Given the description of an element on the screen output the (x, y) to click on. 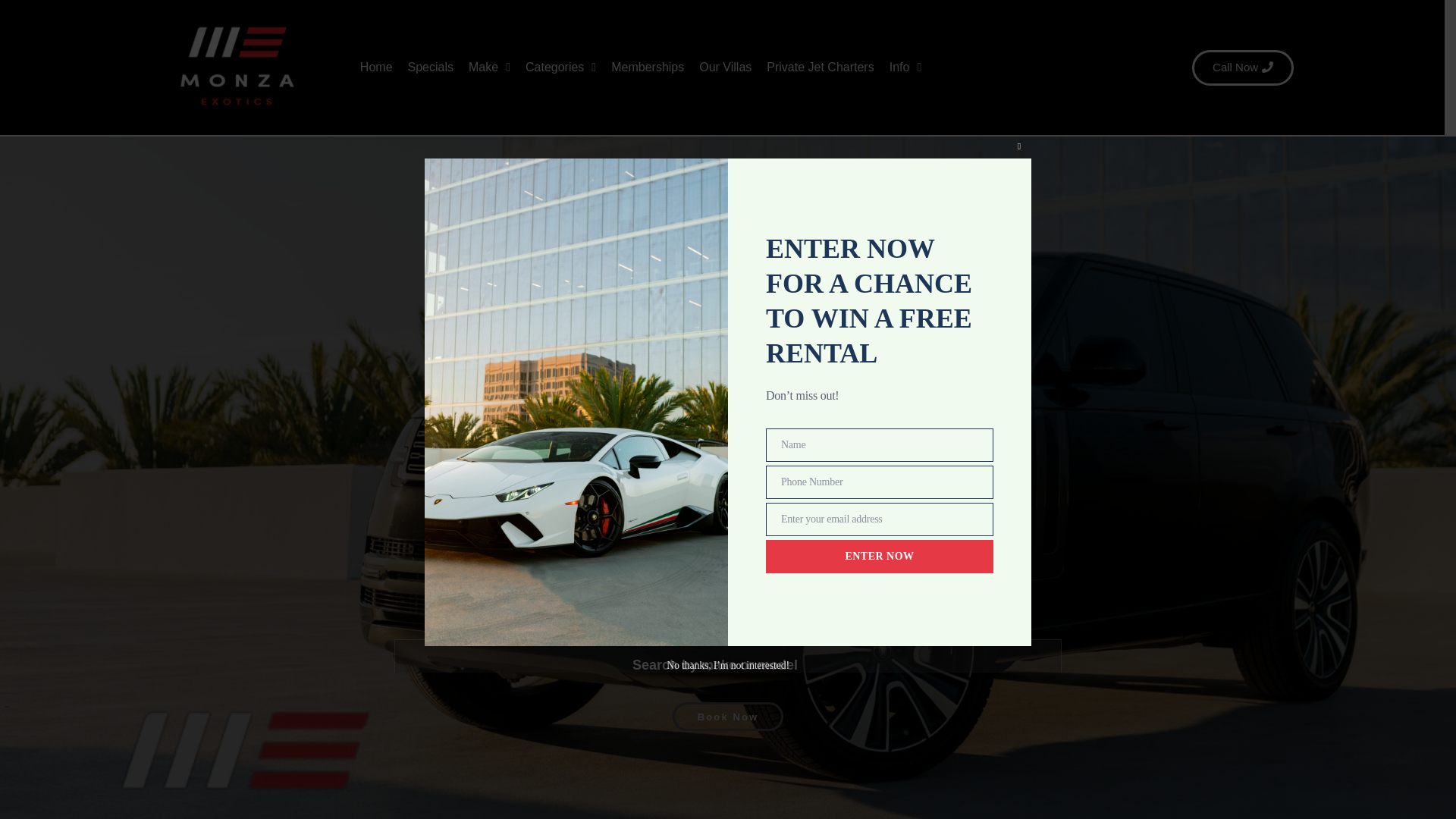
Specials (430, 67)
Categories (561, 67)
Make (489, 67)
Home (376, 67)
